Given the description of an element on the screen output the (x, y) to click on. 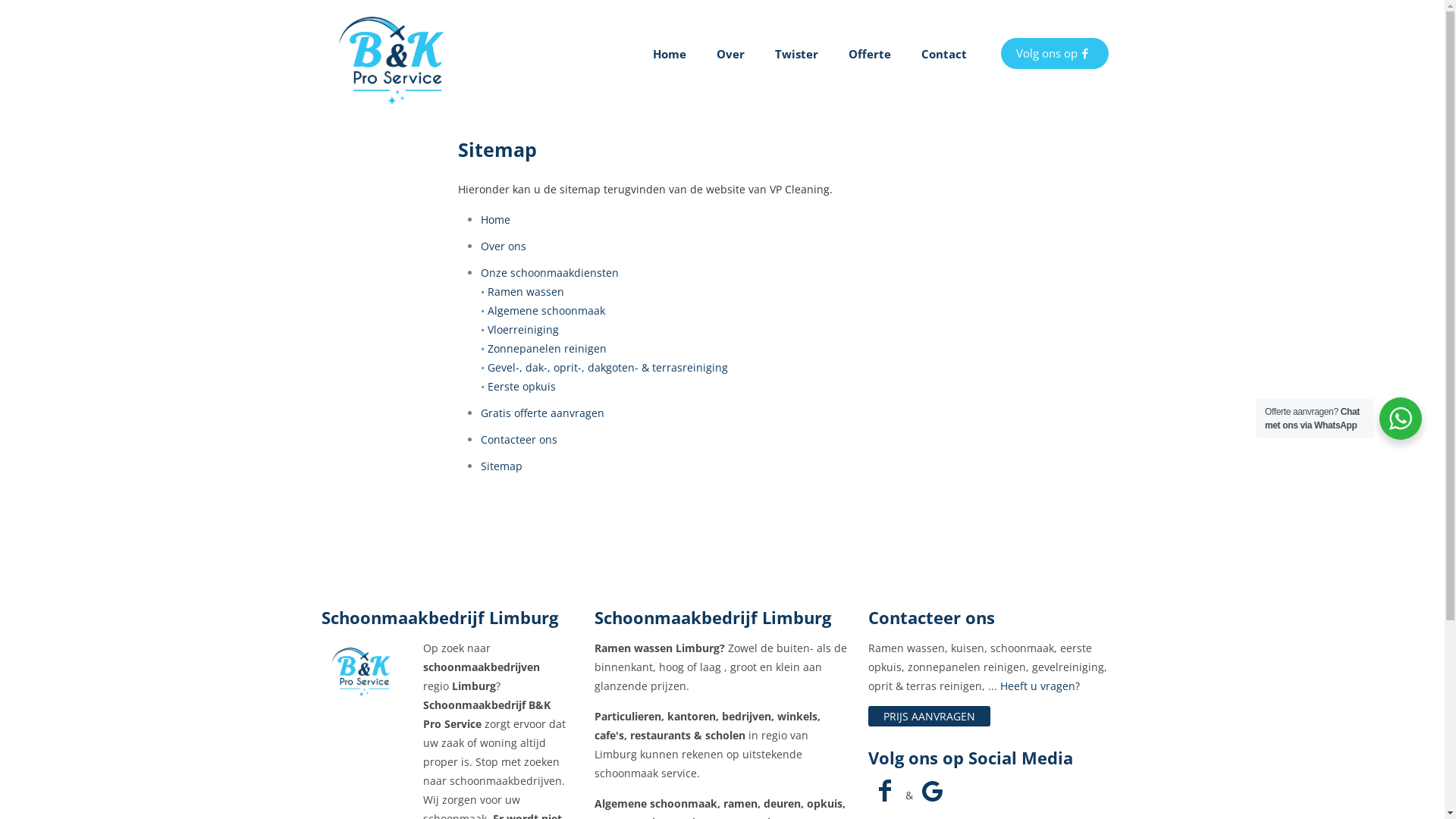
Over ons Element type: text (503, 245)
Contact Element type: text (943, 53)
Algemene schoonmaak Element type: text (546, 310)
Offerte Element type: text (868, 53)
Zonnepanelen reinigen Element type: text (546, 348)
PRIJS AANVRAGEN Element type: text (929, 716)
Ramen wassen Element type: text (525, 291)
Home Element type: text (668, 53)
Heeft u vragen? Element type: text (1039, 685)
Gratis offerte aanvragen Element type: text (542, 412)
Over Element type: text (729, 53)
Twister Element type: text (796, 53)
Contacteer ons Element type: text (518, 439)
Home Element type: text (495, 219)
B&K Pro Service Element type: hover (396, 53)
Volg ons op Element type: text (1054, 53)
Onze schoonmaakdiensten Element type: text (549, 272)
Vloerreiniging Element type: text (522, 329)
Sitemap Element type: text (501, 465)
Gevel-, dak-, oprit-, dakgoten- & terrasreiniging Element type: text (607, 367)
Eerste opkuis Element type: text (521, 386)
